Given the description of an element on the screen output the (x, y) to click on. 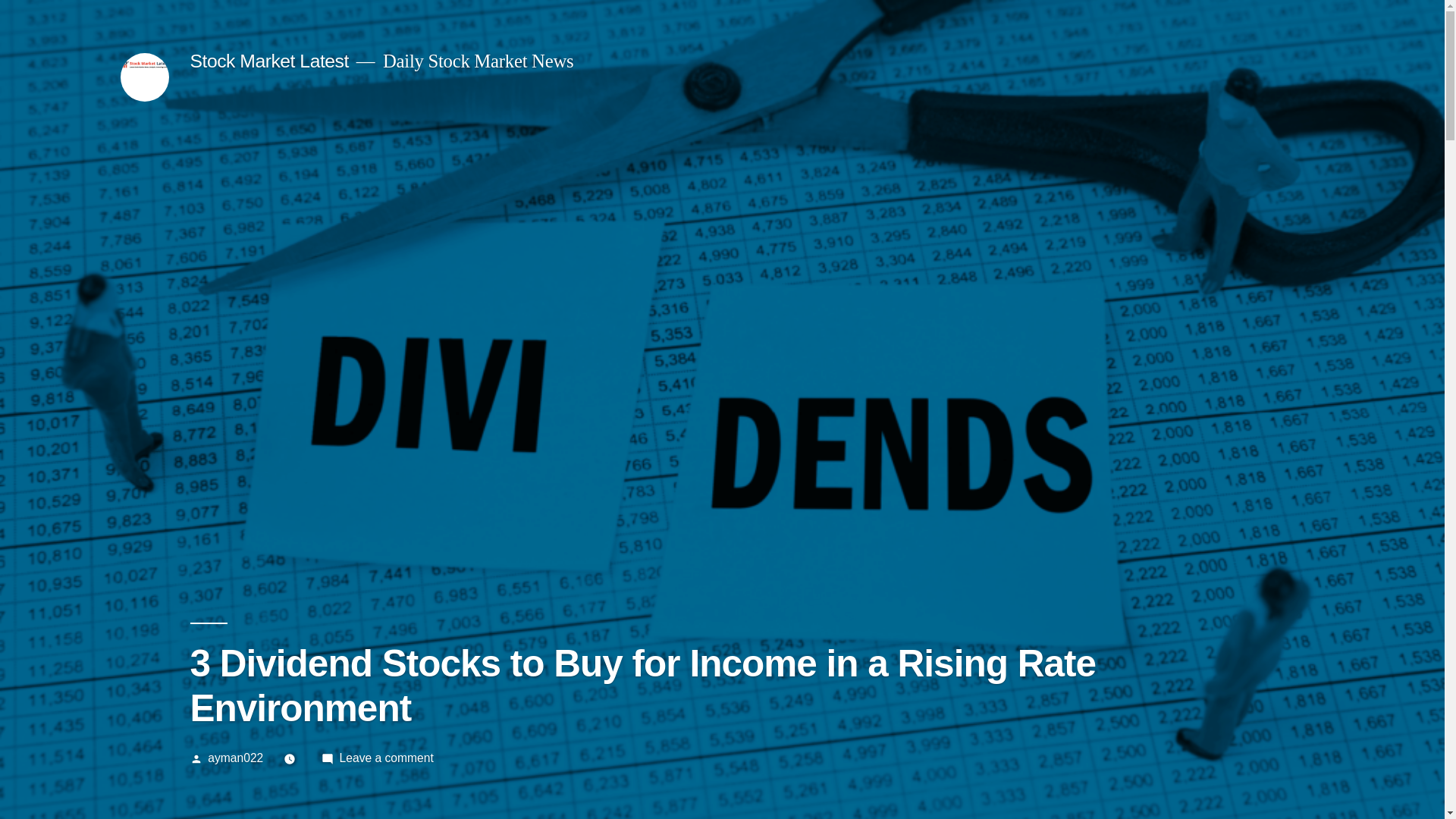
Stock Market Latest (268, 60)
ayman022 (235, 757)
